Given the description of an element on the screen output the (x, y) to click on. 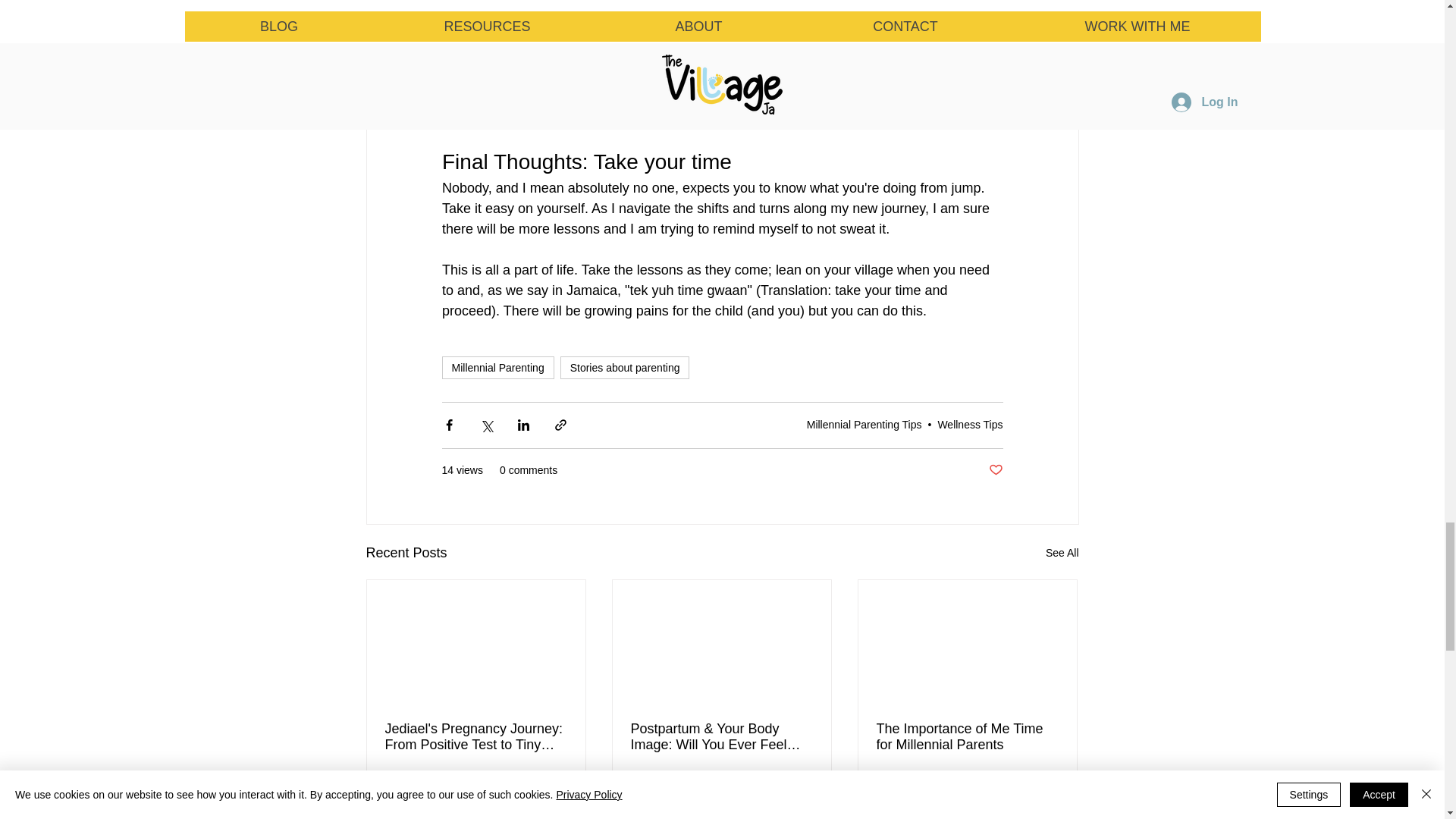
See All (800, 789)
Millennial Parenting (1061, 553)
0 (497, 367)
Post not marked as liked (931, 789)
0 (995, 470)
The Importance of Me Time for Millennial Parents (435, 789)
Millennial Parenting Tips (967, 736)
Stories about parenting (863, 424)
